Given the description of an element on the screen output the (x, y) to click on. 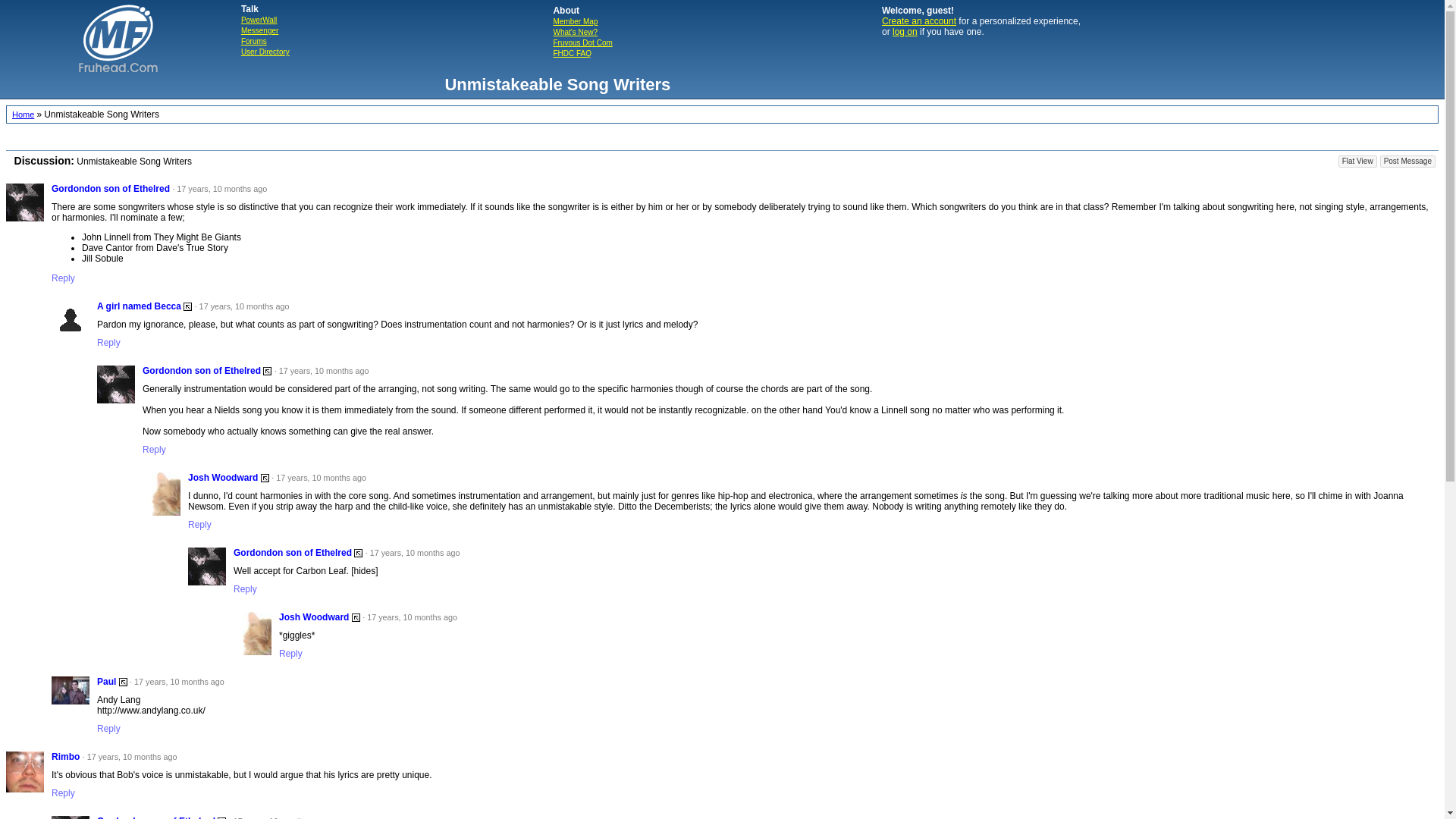
What's New? (574, 31)
Post Message (1407, 161)
2007-02-01 00:23:32 (409, 616)
Fruvous Dot Com (582, 42)
Messenger (259, 30)
Gordondon son of Ethelred (292, 552)
Reply (203, 524)
Forums (253, 40)
2007-01-30 15:19:59 (218, 188)
2007-01-30 17:35:16 (129, 756)
